Given the description of an element on the screen output the (x, y) to click on. 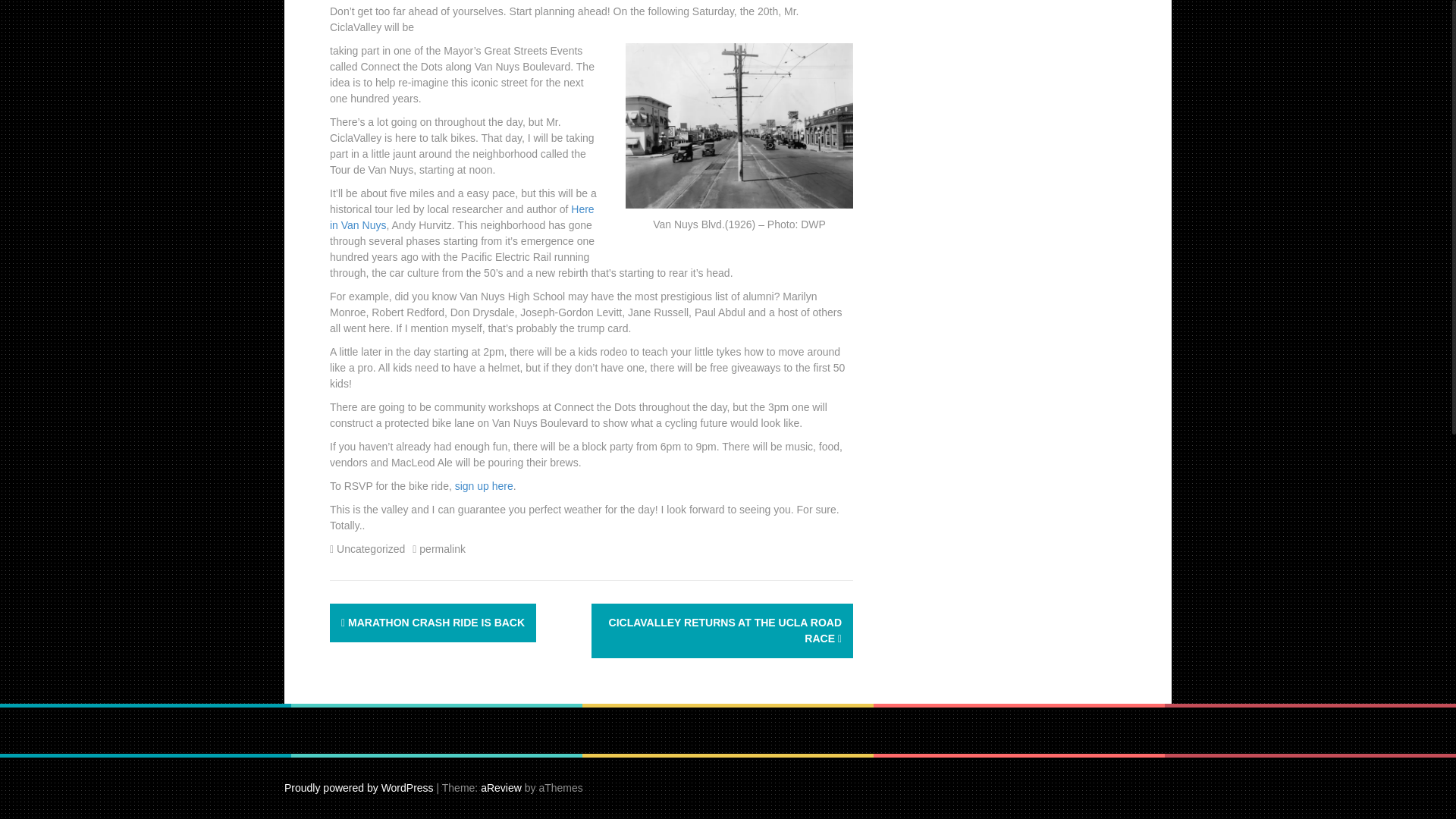
Advertisement (1011, 95)
